Given the description of an element on the screen output the (x, y) to click on. 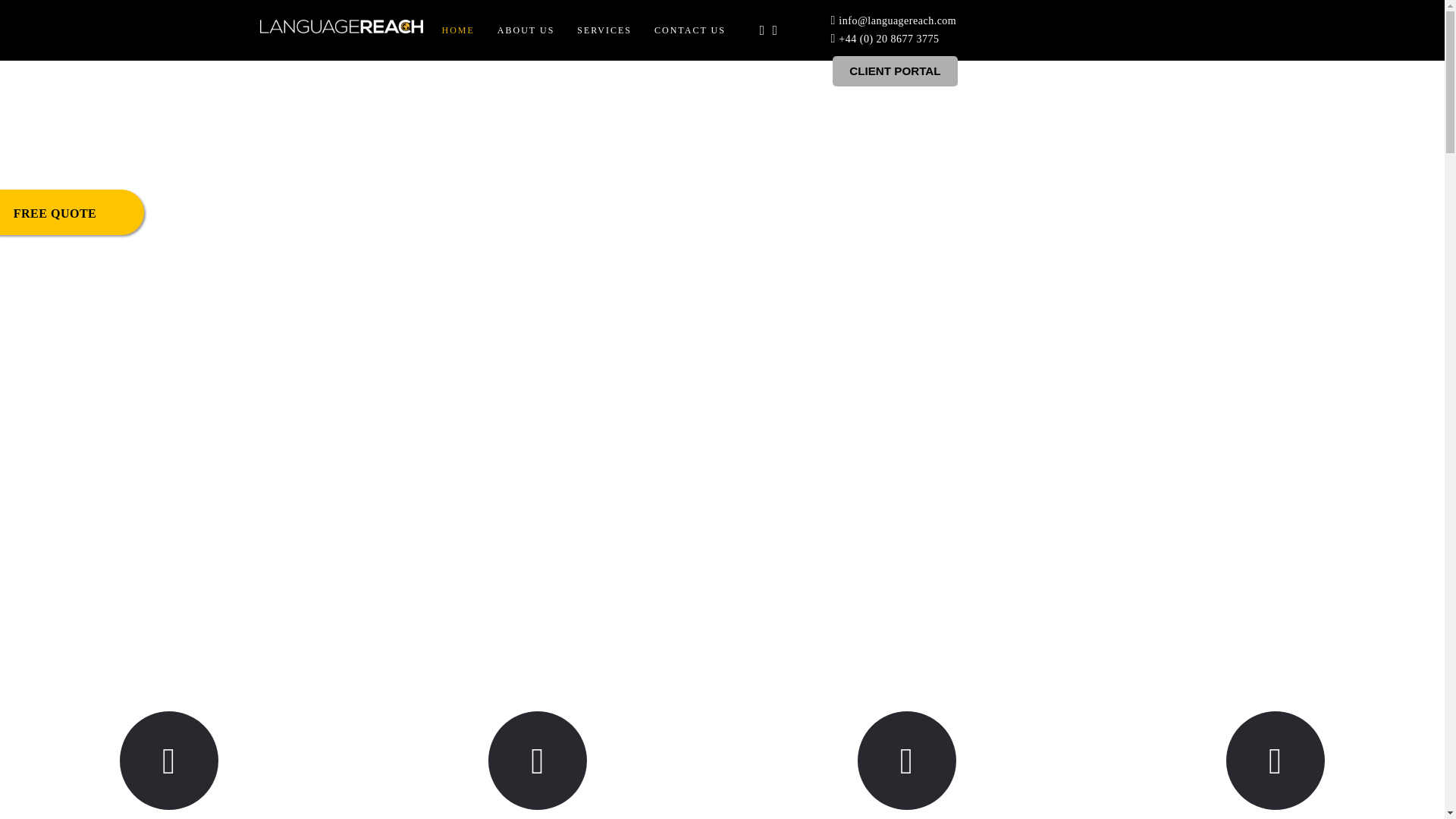
SERVICES (603, 30)
CLIENT PORTAL (895, 64)
ABOUT US (525, 30)
CONTACT US (689, 30)
